Given the description of an element on the screen output the (x, y) to click on. 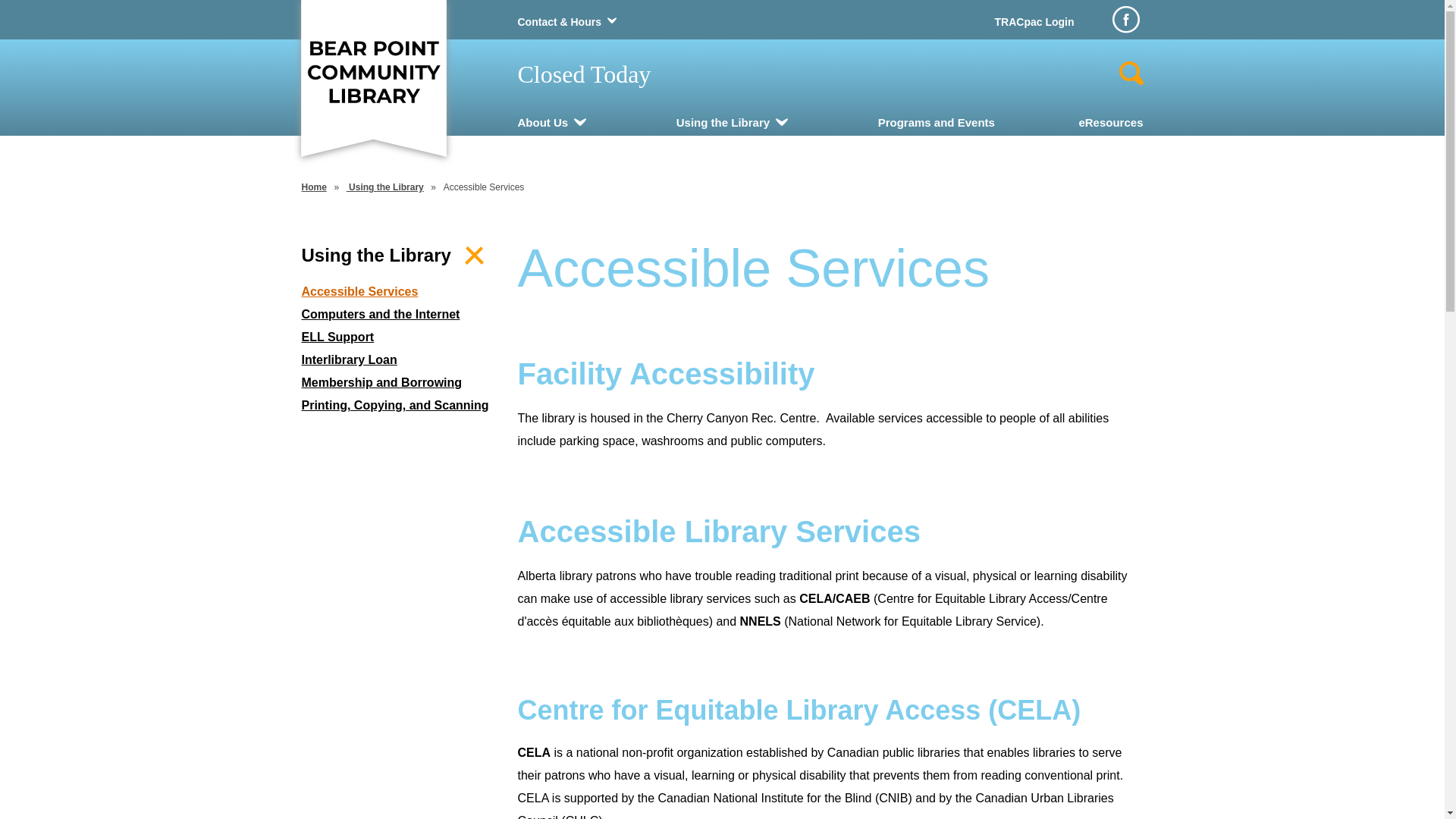
Bear Point Community Library Element type: hover (372, 69)
TRACpac Login Element type: text (1034, 21)
Home Element type: text (313, 187)
Contact & Hours Element type: text (558, 21)
Membership and Borrowing Element type: text (398, 382)
Printing, Copying, and Scanning Element type: text (398, 405)
Using the Library Element type: text (722, 122)
ELL Support Element type: text (398, 337)
Using the Library Element type: text (384, 187)
Facebook Element type: hover (1125, 19)
Interlibrary Loan Element type: text (398, 359)
Accessible Services Element type: text (398, 291)
About Us Element type: text (542, 122)
Computers and the Internet Element type: text (398, 314)
Using the Library
Toggle navigation Element type: text (398, 255)
eResources Element type: text (1110, 122)
Programs and Events Element type: text (936, 122)
